Given the description of an element on the screen output the (x, y) to click on. 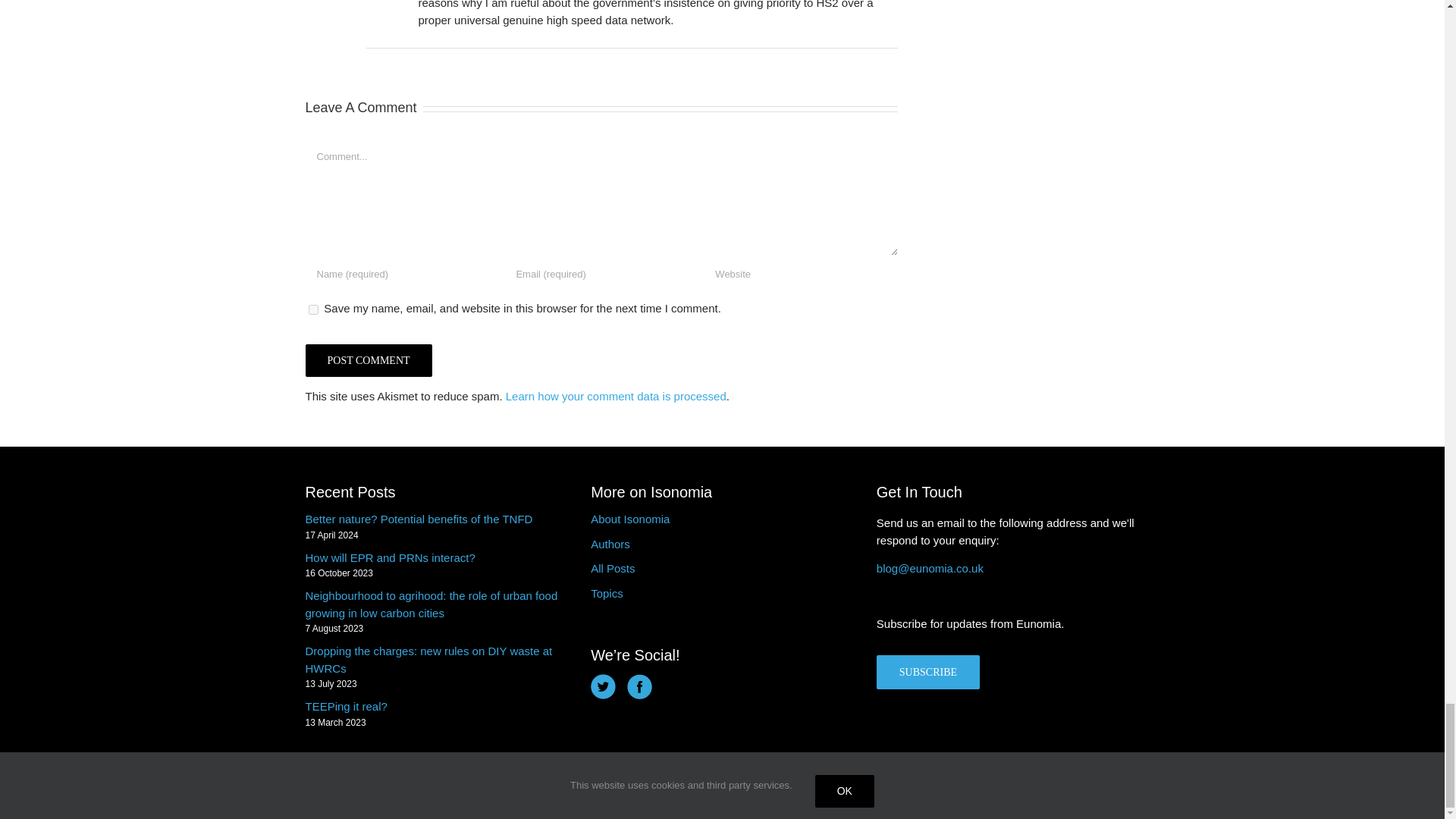
Post Comment (367, 359)
yes (312, 309)
